Given the description of an element on the screen output the (x, y) to click on. 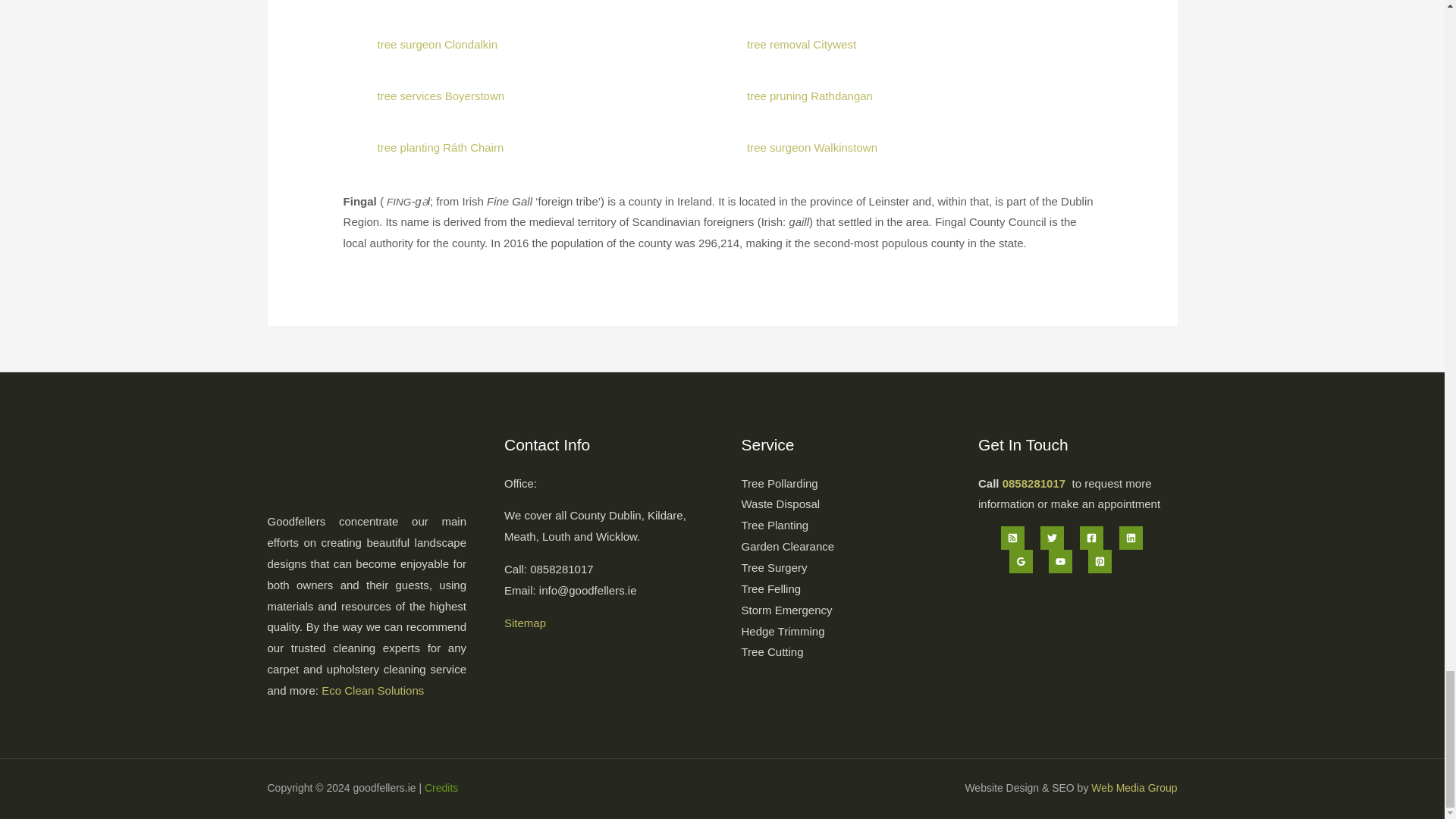
tree surgeon Walkinstown (811, 146)
tree removal Citywest (801, 43)
tree services Boyerstown (441, 95)
tree pruning Rathdangan (809, 95)
tree surgeon Clondalkin (437, 43)
English pronunciation respelling (408, 201)
